Given the description of an element on the screen output the (x, y) to click on. 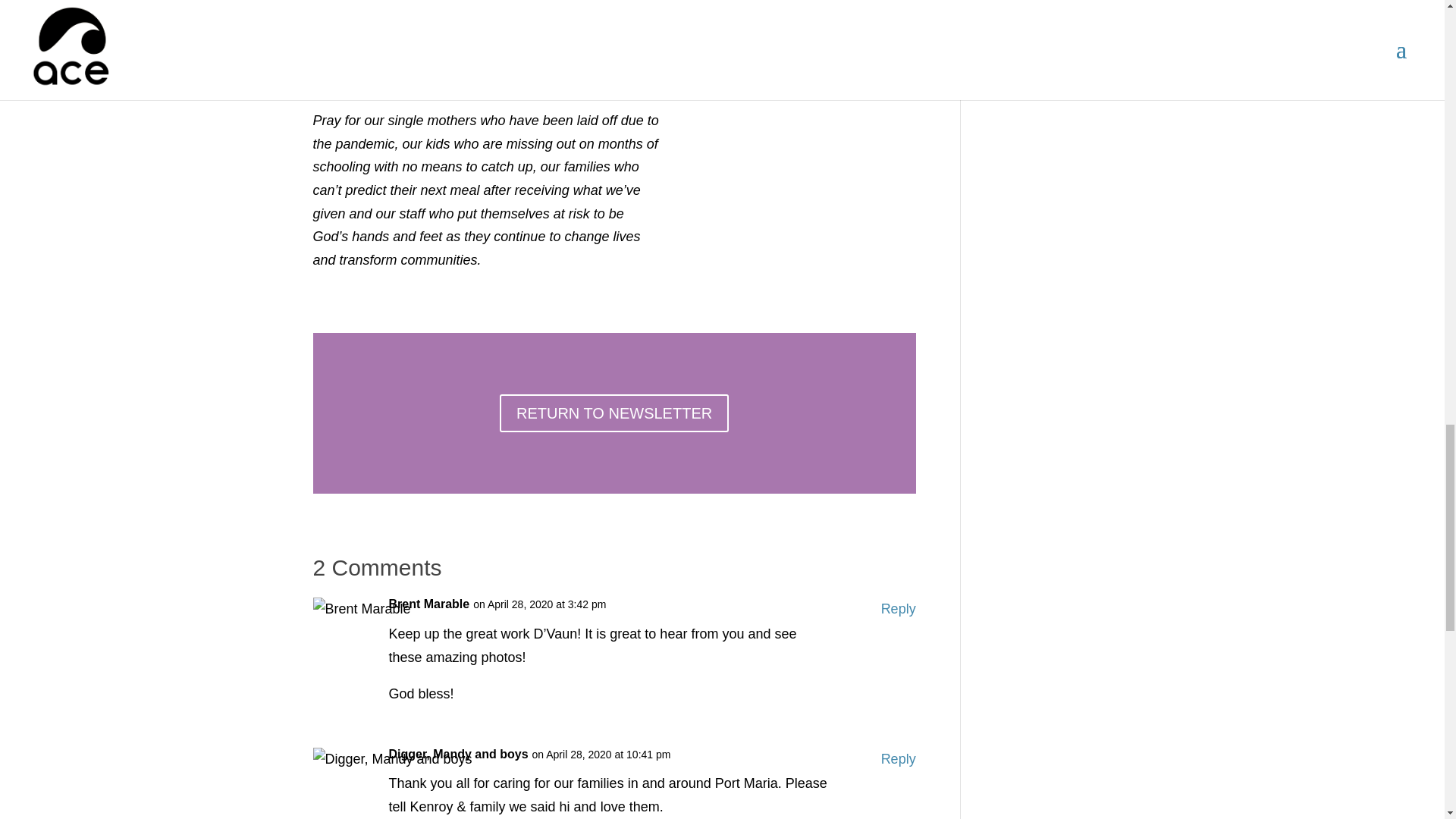
RETURN TO NEWSLETTER (614, 412)
Reply (897, 608)
Reply (897, 759)
